Given the description of an element on the screen output the (x, y) to click on. 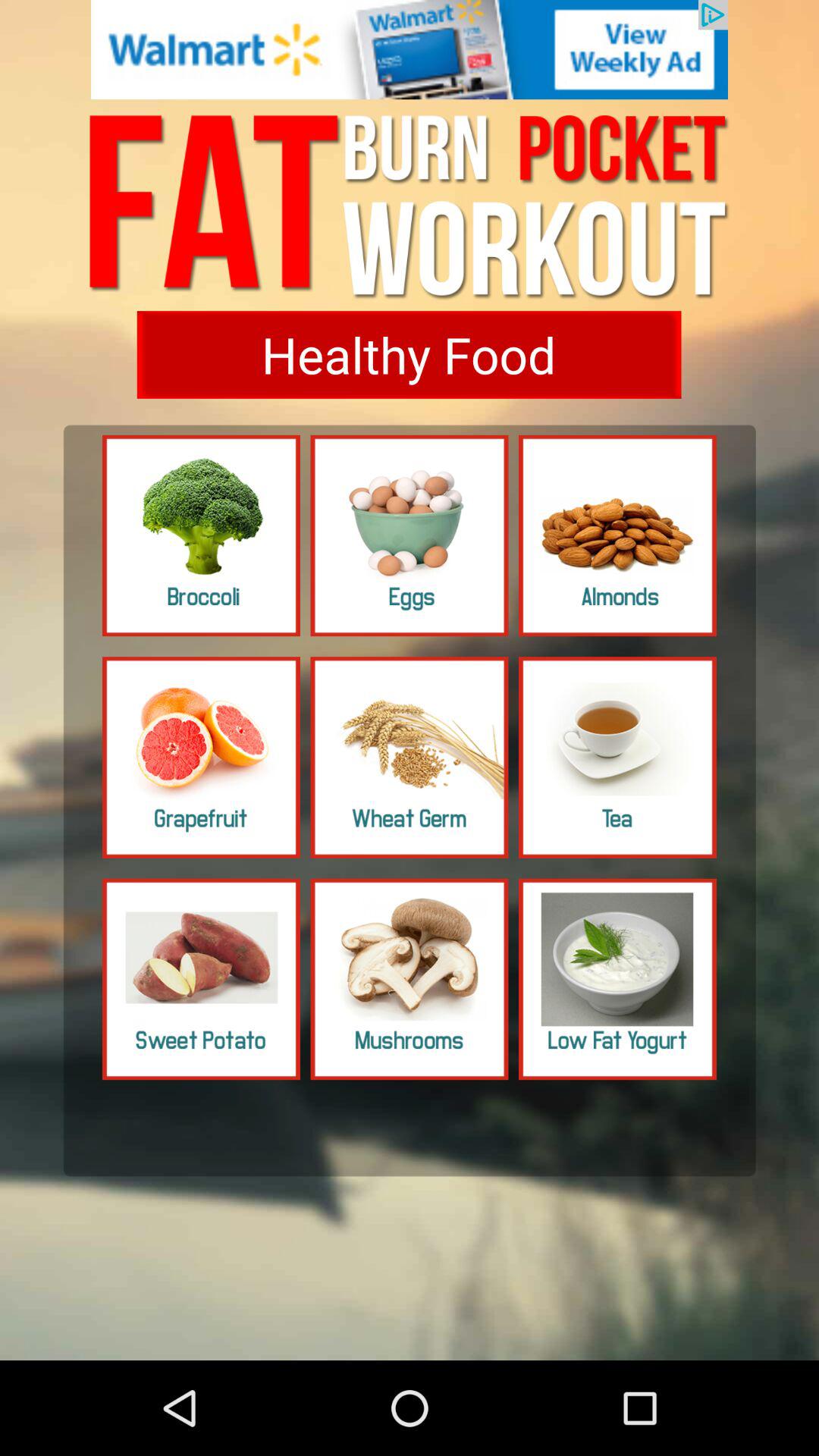
food option (201, 535)
